Given the description of an element on the screen output the (x, y) to click on. 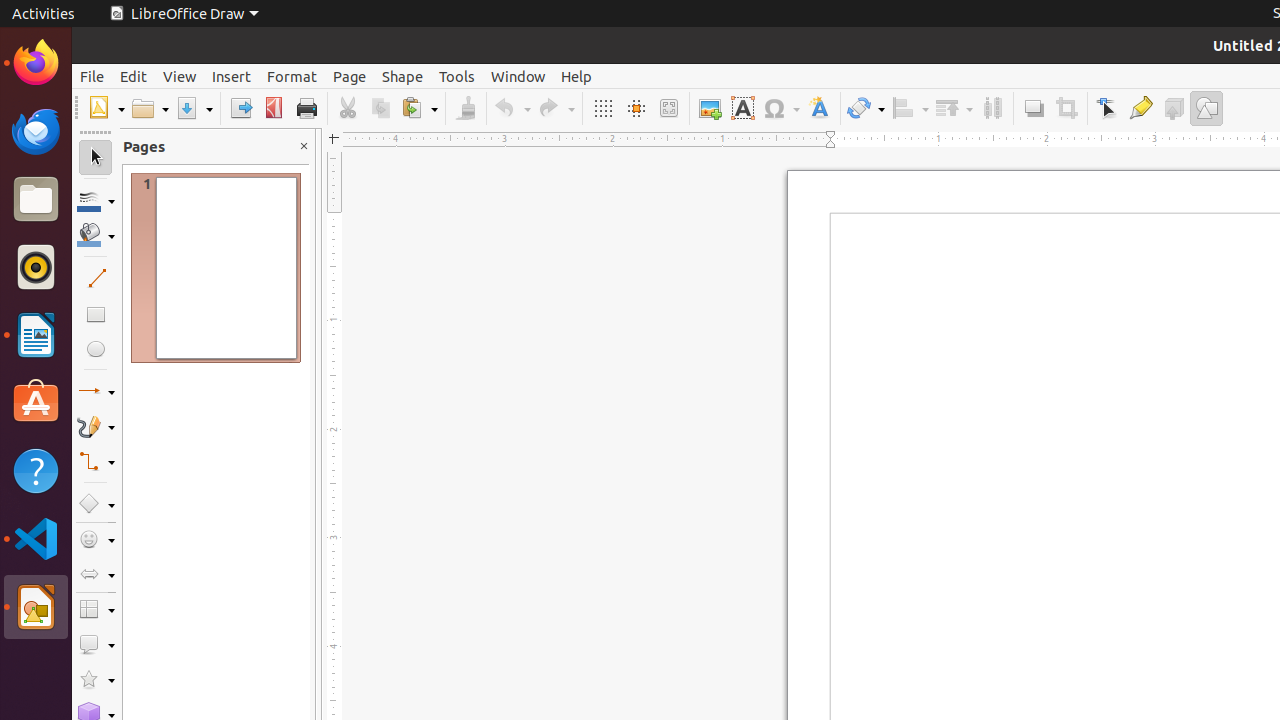
Shape Element type: menu (402, 76)
Window Element type: menu (518, 76)
View Element type: menu (179, 76)
Crop Element type: push-button (1066, 108)
Star Shapes Element type: push-button (96, 679)
